Given the description of an element on the screen output the (x, y) to click on. 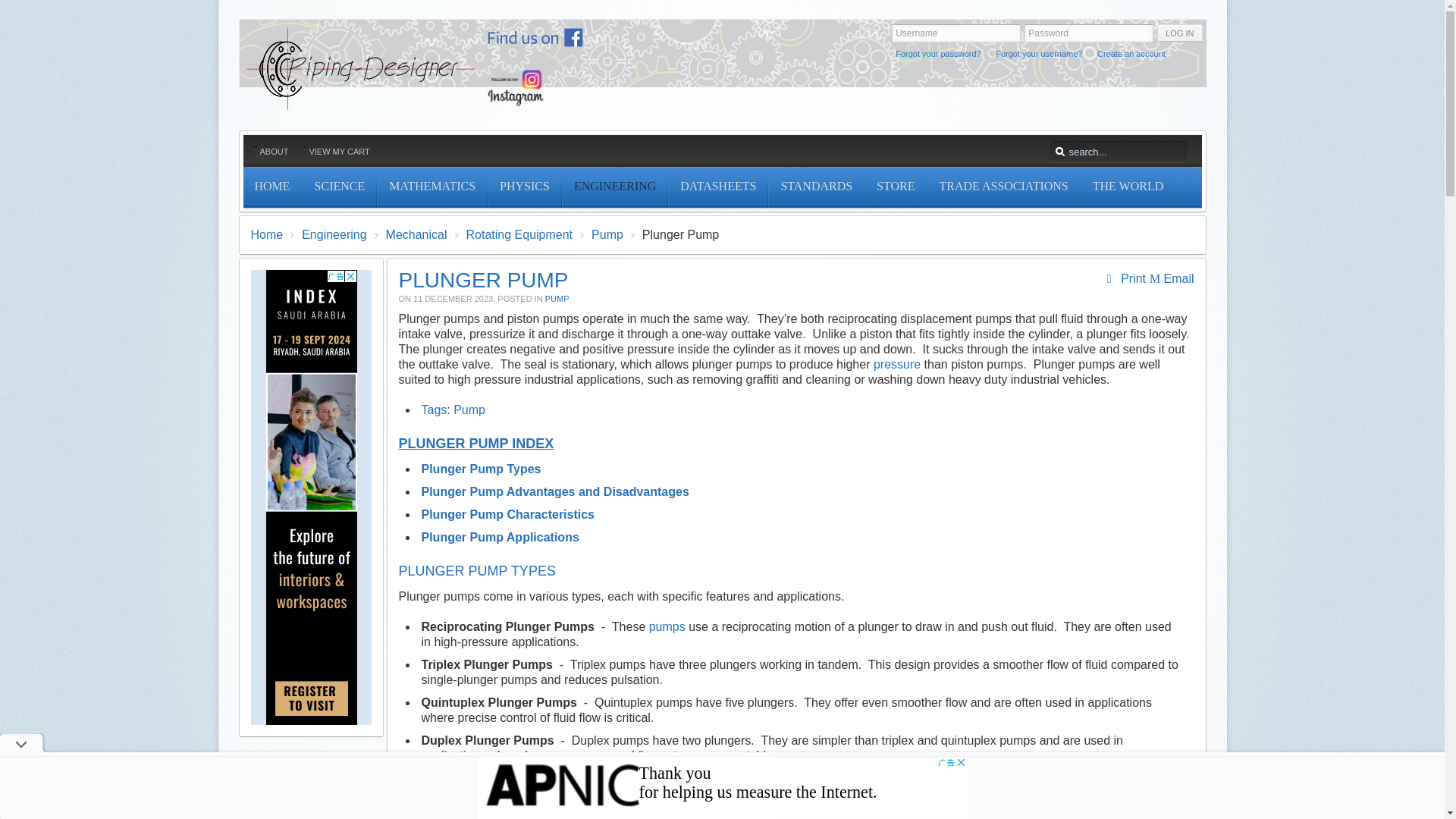
Properties (523, 186)
SCIENCE (339, 186)
Create an account (1131, 53)
MATHEMATICS (431, 186)
Disciplines (614, 186)
Home (272, 186)
ENGINEERING (614, 186)
Mathematics (431, 186)
LOG IN (1179, 32)
Forgot your username? (1038, 53)
